Given the description of an element on the screen output the (x, y) to click on. 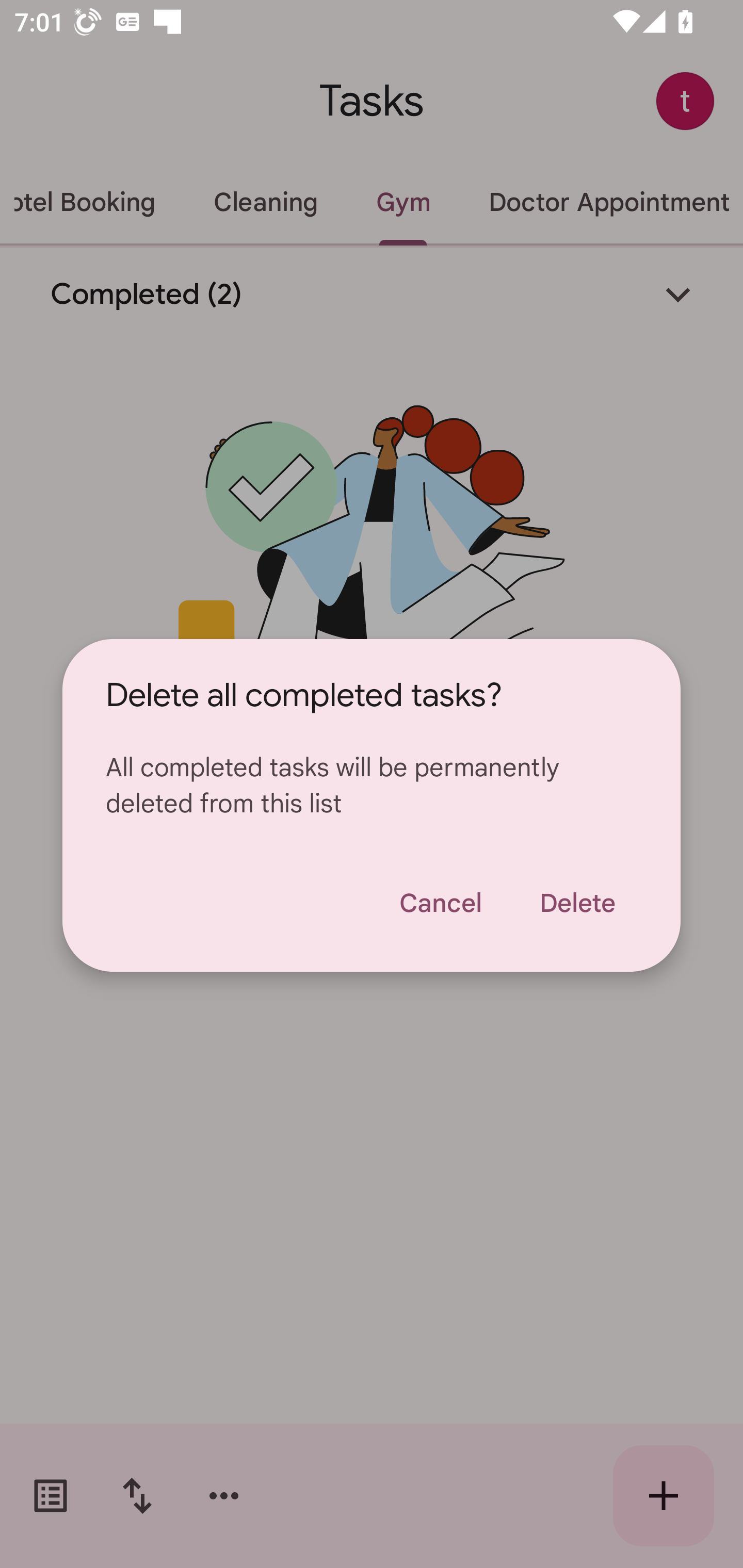
Cancel (440, 903)
Delete (577, 903)
